Given the description of an element on the screen output the (x, y) to click on. 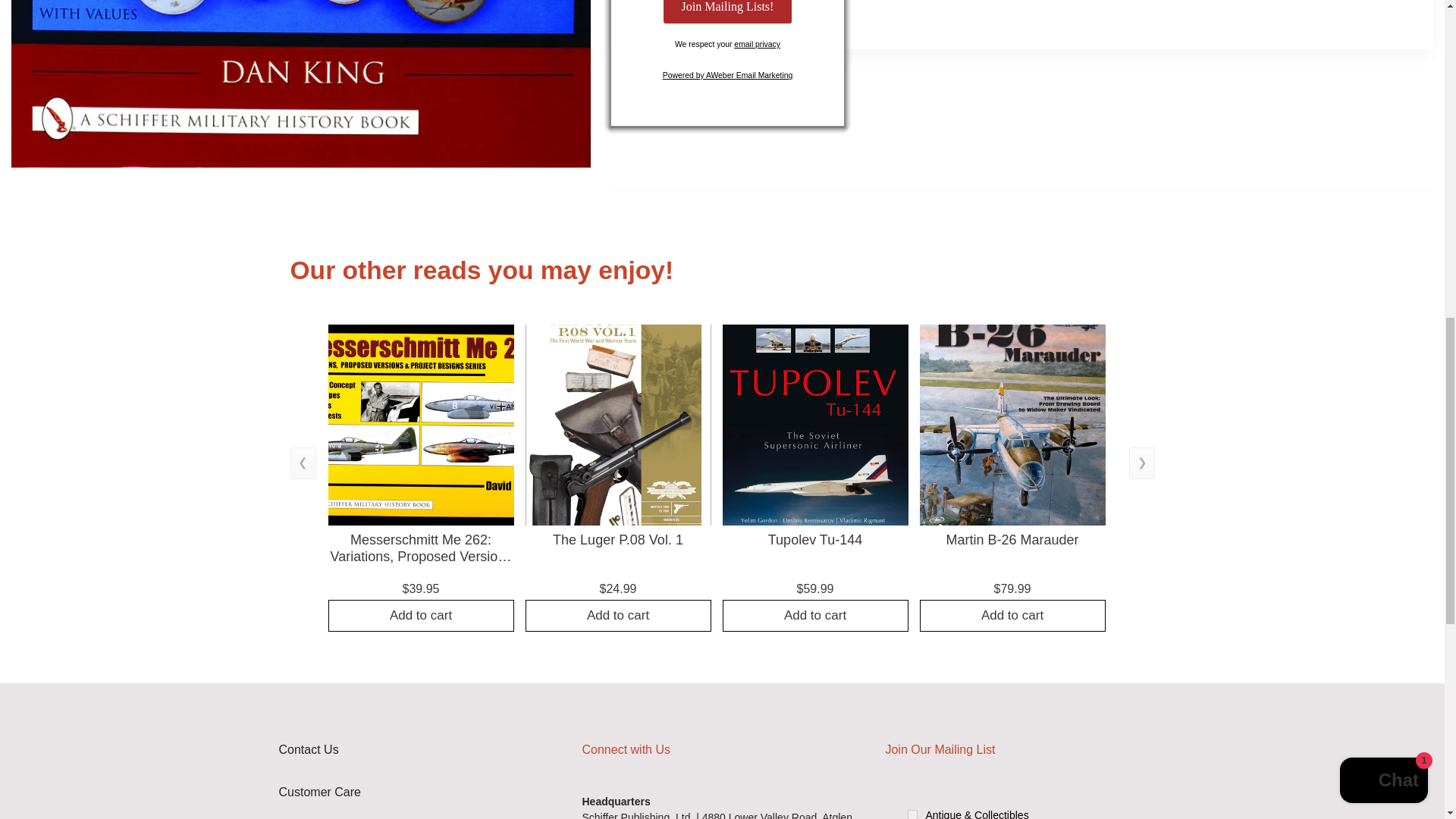
AWeber Email Marketing (727, 75)
Privacy Policy (756, 44)
